Given the description of an element on the screen output the (x, y) to click on. 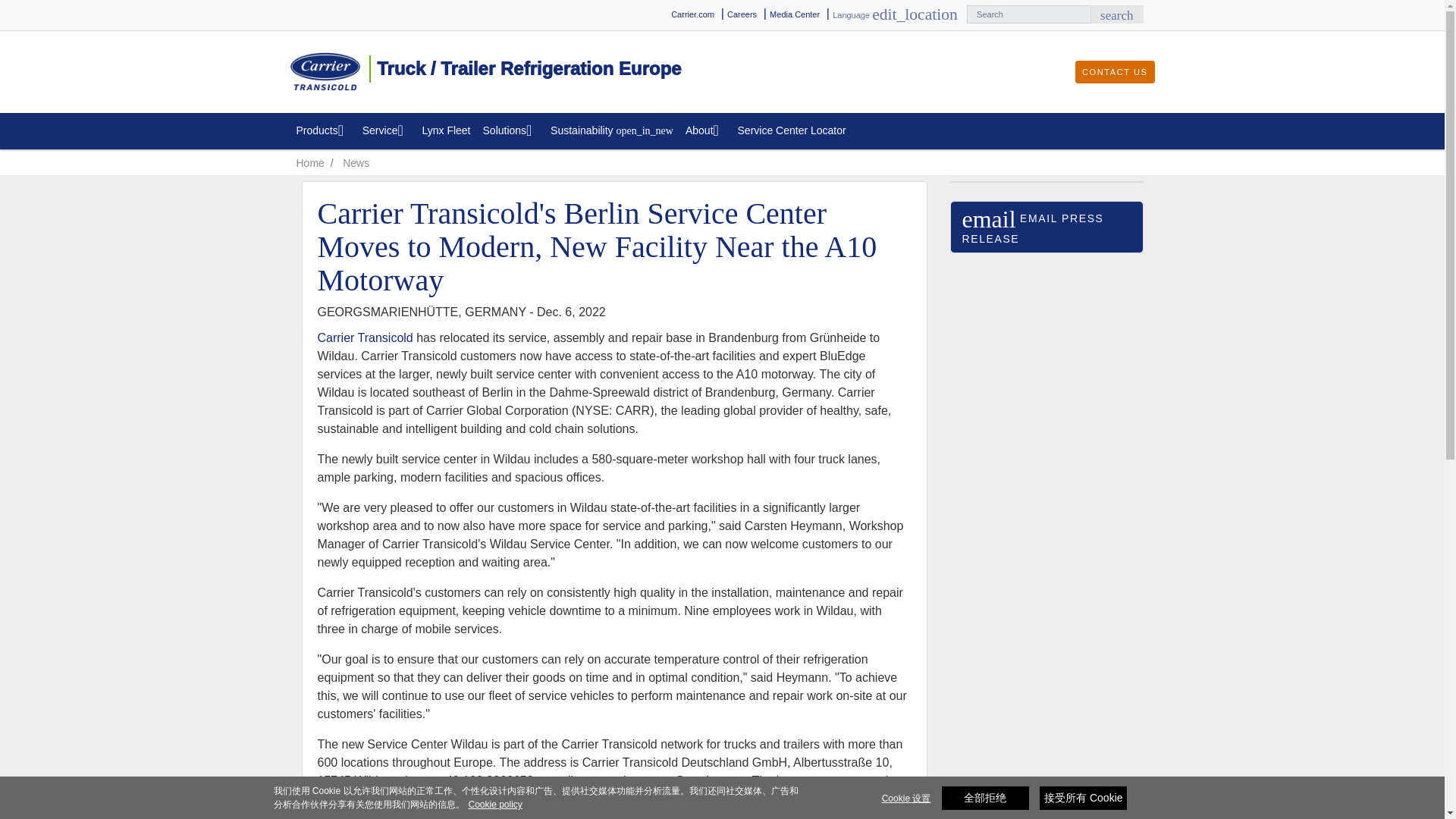
CONTACT US (1114, 72)
Products (322, 130)
Carrier.com (692, 14)
Careers (1116, 13)
Media Center (741, 14)
